Given the description of an element on the screen output the (x, y) to click on. 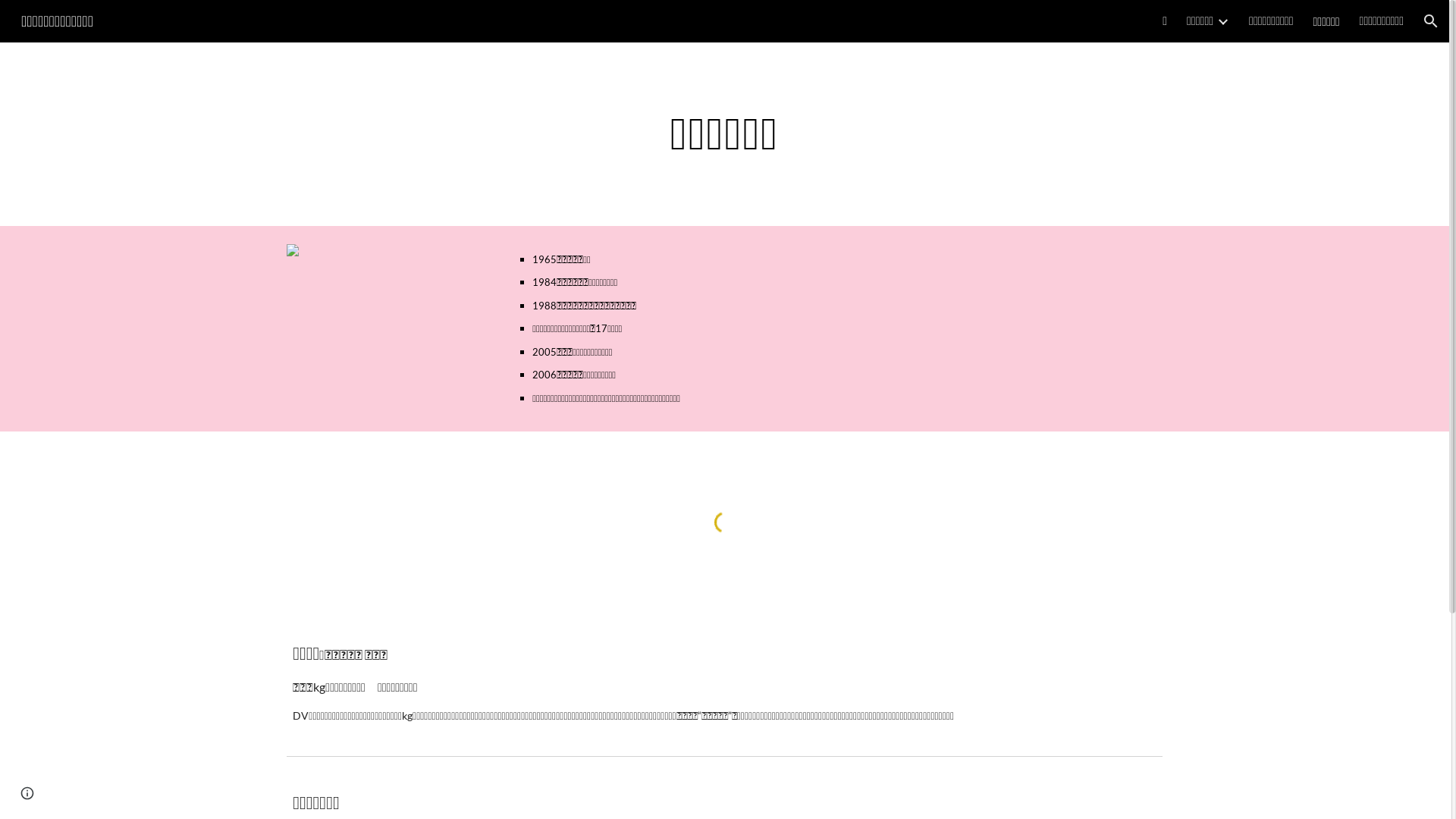
Expand/Collapse Element type: hover (1222, 21)
Custom embed Element type: hover (723, 522)
